Given the description of an element on the screen output the (x, y) to click on. 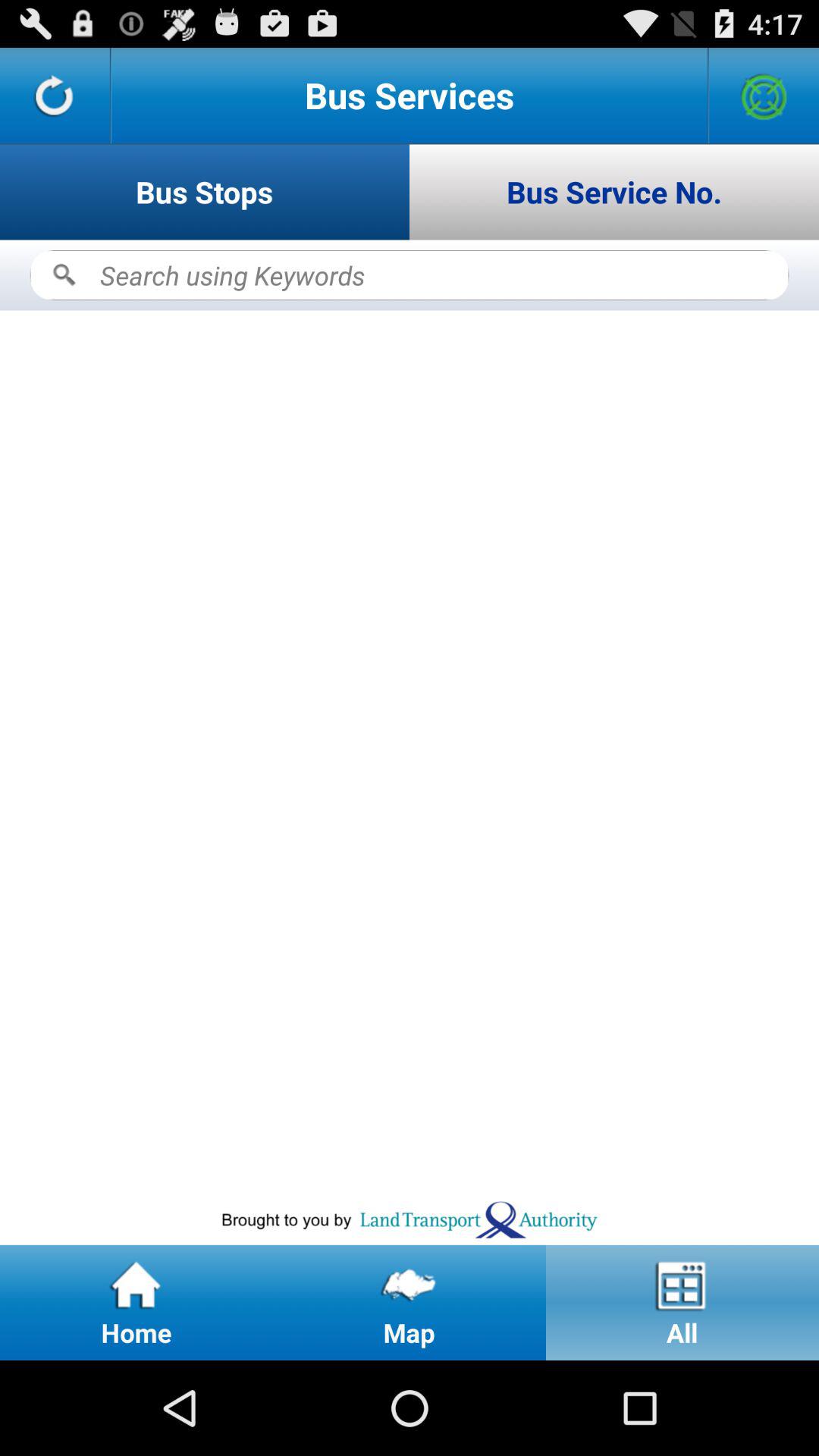
search box for keywords (409, 275)
